Given the description of an element on the screen output the (x, y) to click on. 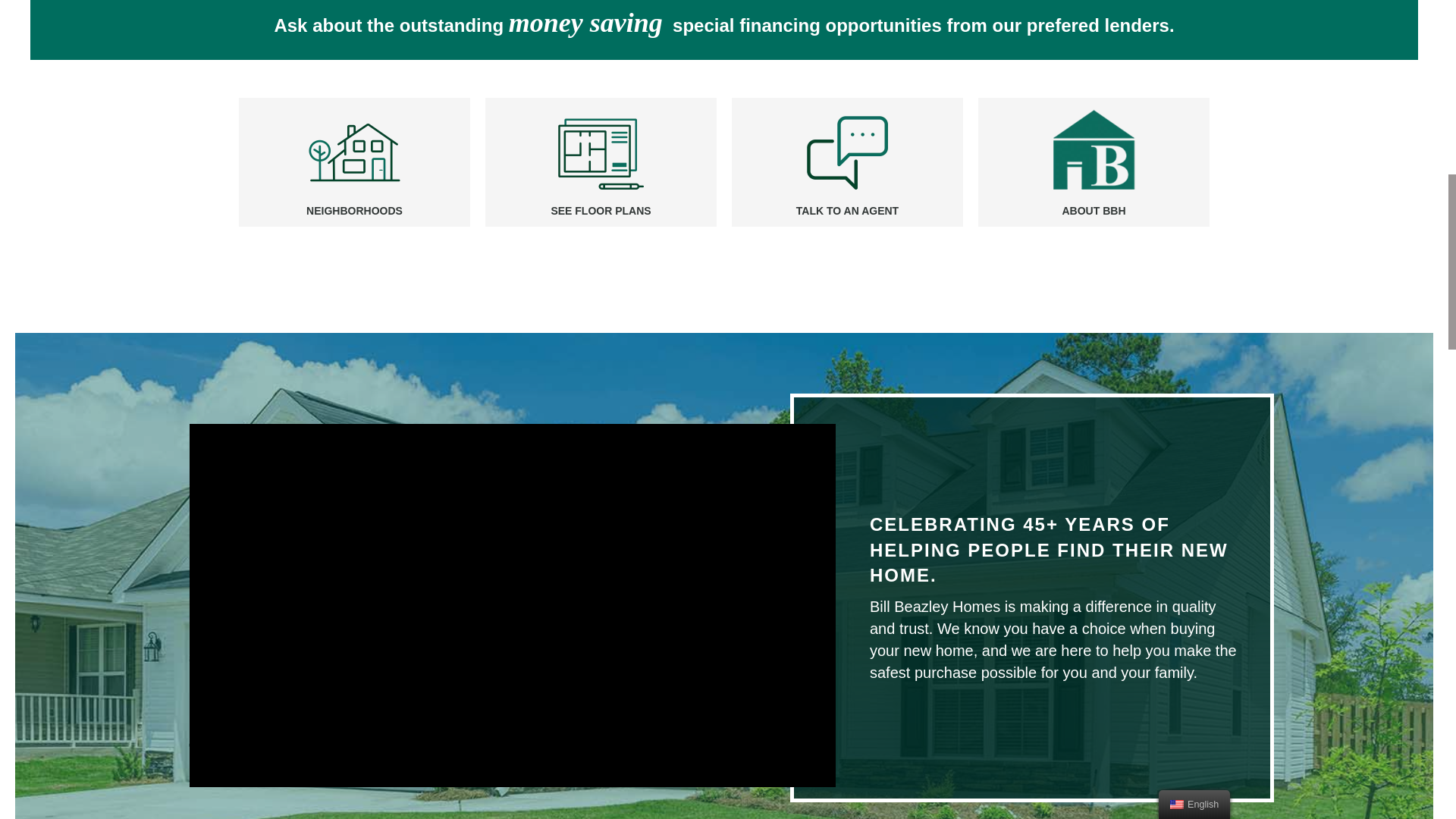
Neighborhoods (354, 152)
Floorplans Icon (600, 152)
Talk to an Agent (847, 210)
See Floor Plans (600, 210)
Request a Consult Icon (847, 152)
Neighborhoods (354, 210)
About BBH Icon (1093, 152)
About BBH (1093, 210)
